Given the description of an element on the screen output the (x, y) to click on. 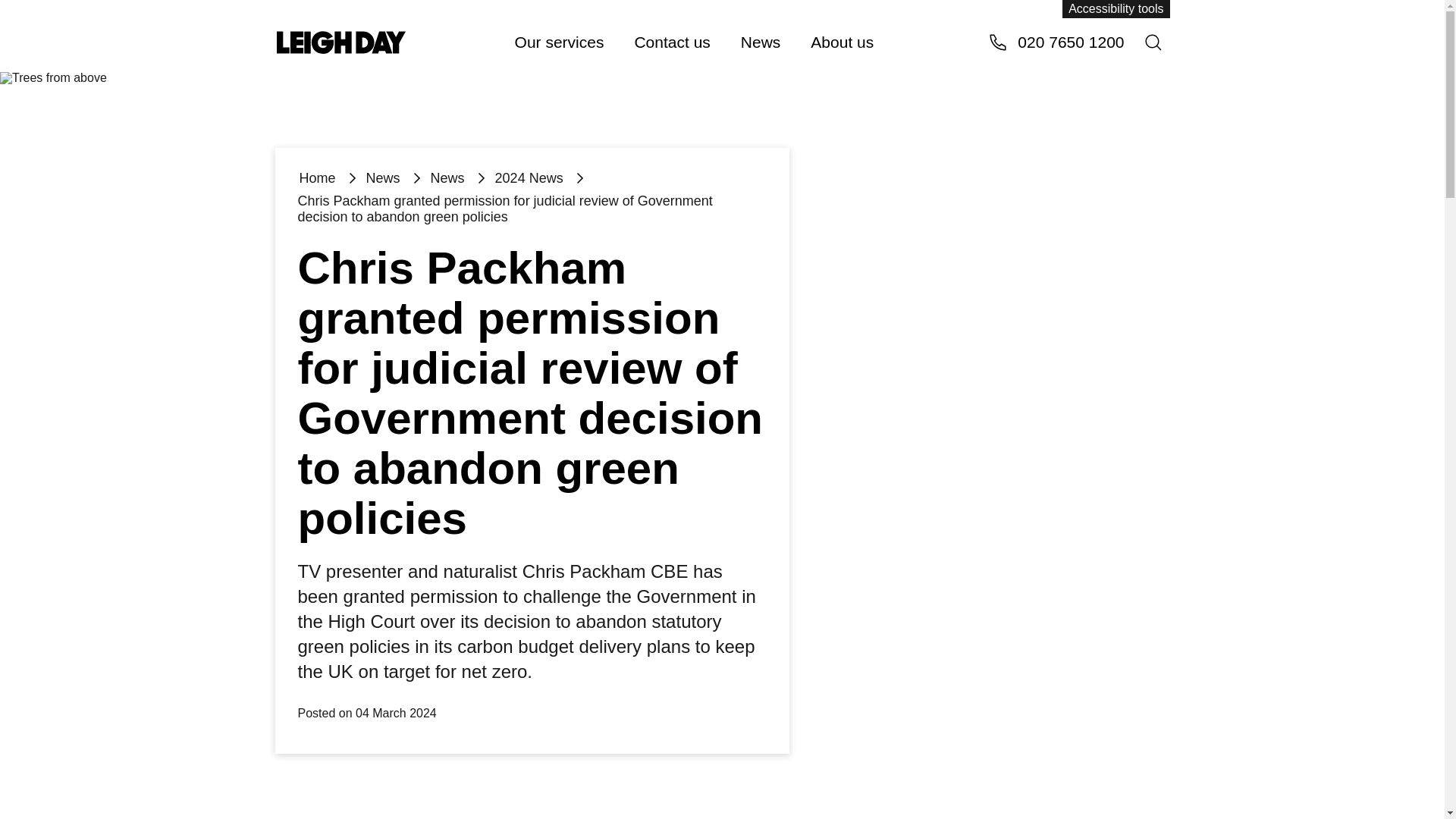
Our services (558, 41)
Accessibility tools (1115, 9)
Accessibility tools (1115, 9)
